Given the description of an element on the screen output the (x, y) to click on. 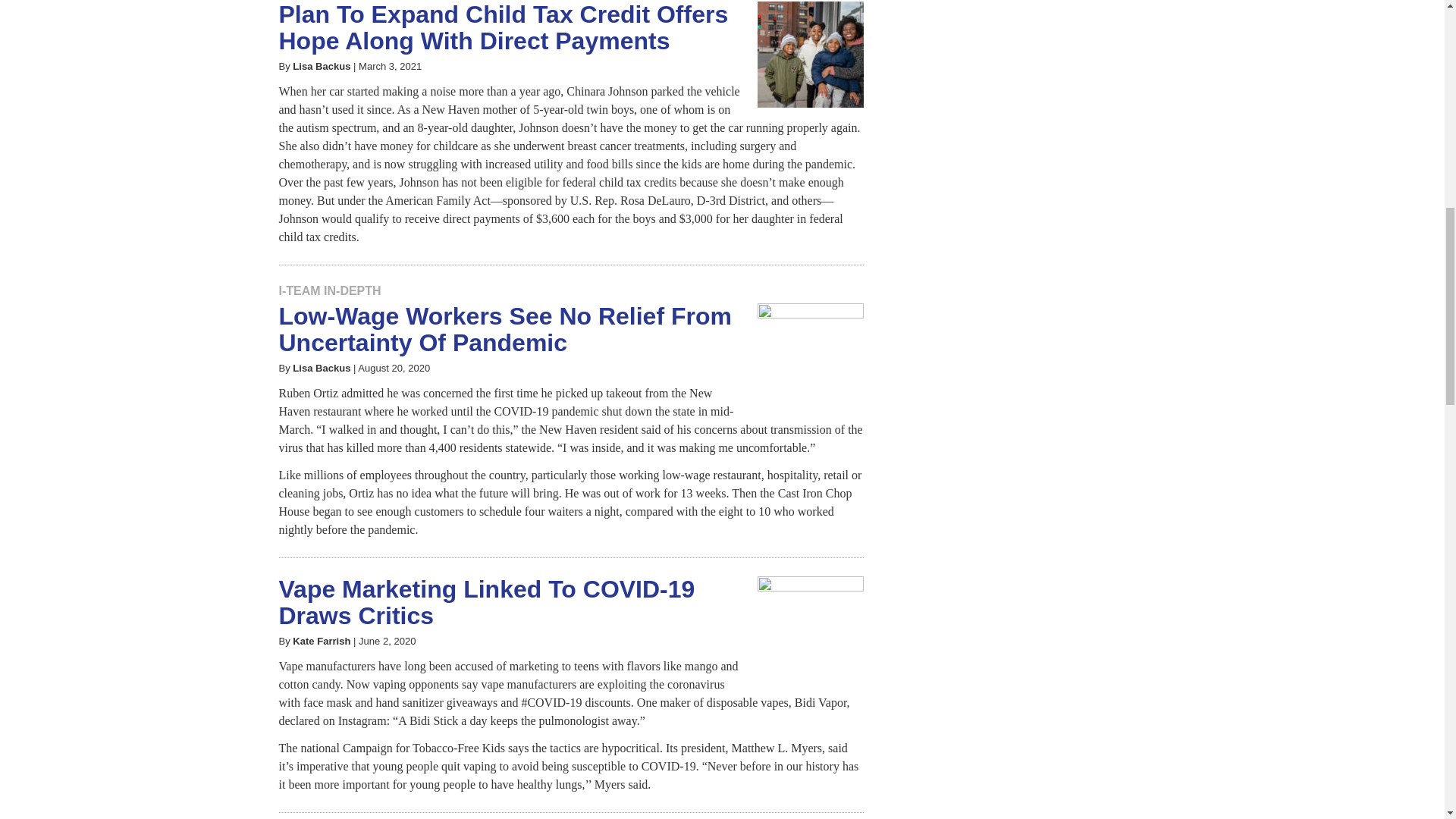
Read Stories in the I-Team In-Depth category (330, 290)
More from Kate Farrish (321, 641)
Permalink to Vape Marketing Linked To COVID-19 Draws Critics (487, 602)
More from Lisa Backus (321, 66)
More from Lisa Backus (321, 367)
